Given the description of an element on the screen output the (x, y) to click on. 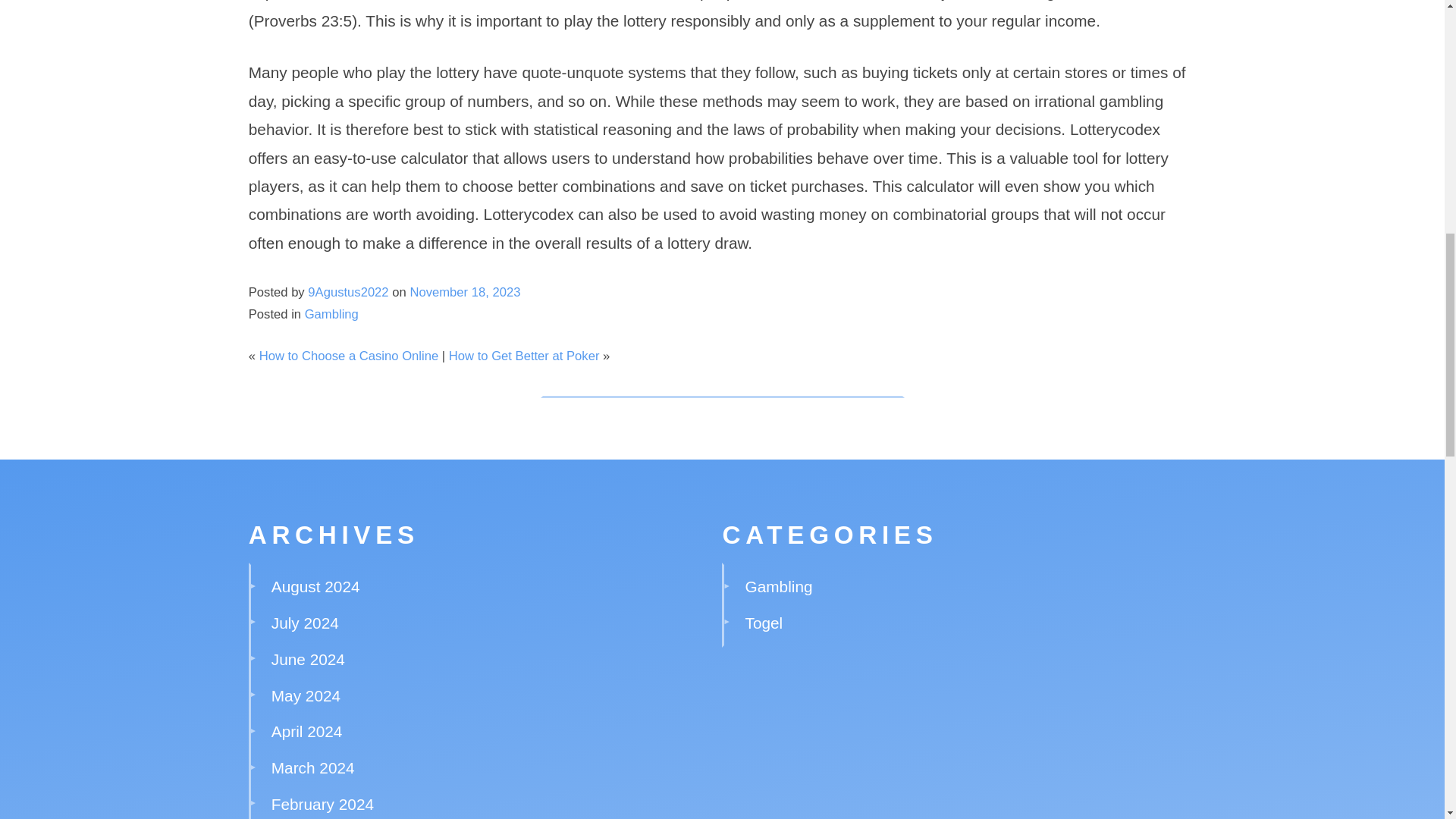
November 18, 2023 (464, 292)
June 2024 (307, 659)
May 2024 (305, 695)
Gambling (778, 586)
July 2024 (304, 622)
How to Choose a Casino Online (349, 355)
March 2024 (312, 767)
Gambling (331, 314)
August 2024 (314, 586)
Togel (764, 622)
